Given the description of an element on the screen output the (x, y) to click on. 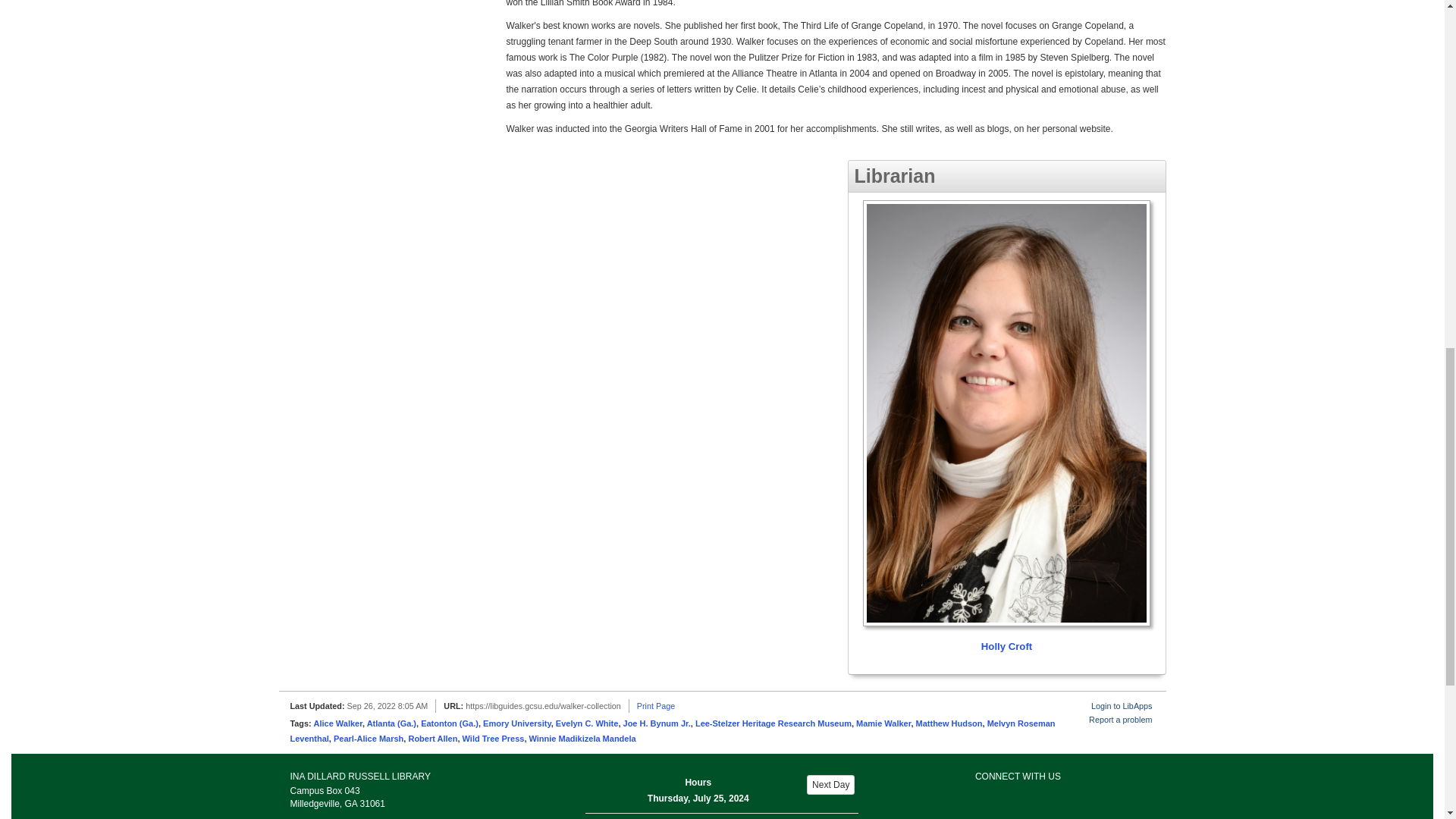
Evelyn C. White (587, 723)
Emory University (517, 723)
Alice Walker (338, 723)
Print Page (656, 705)
Report a problem (1120, 718)
Login to LibApps (1120, 705)
Matthew Hudson (948, 723)
Lee-Stelzer Heritage Research Museum (773, 723)
Mamie Walker (883, 723)
Melvyn Roseman Leventhal (671, 730)
Joe H. Bynum Jr. (656, 723)
